Given the description of an element on the screen output the (x, y) to click on. 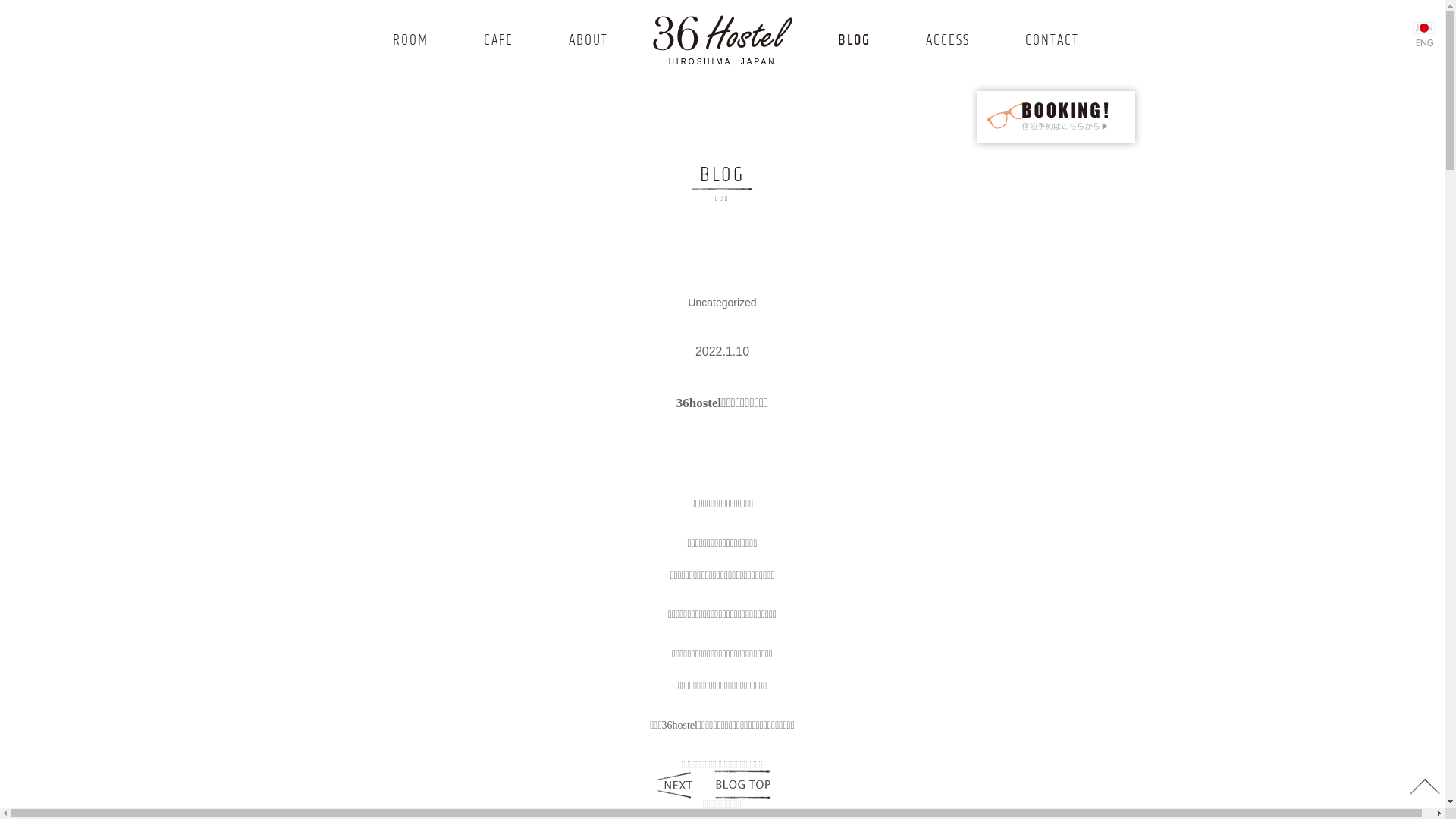
CONTACT Element type: text (1052, 40)
ACCESS Element type: text (947, 40)
ABOUT Element type: text (588, 40)
ROOM Element type: text (410, 40)
CAFE Element type: text (498, 40)
BLOG Element type: text (853, 40)
